Given the description of an element on the screen output the (x, y) to click on. 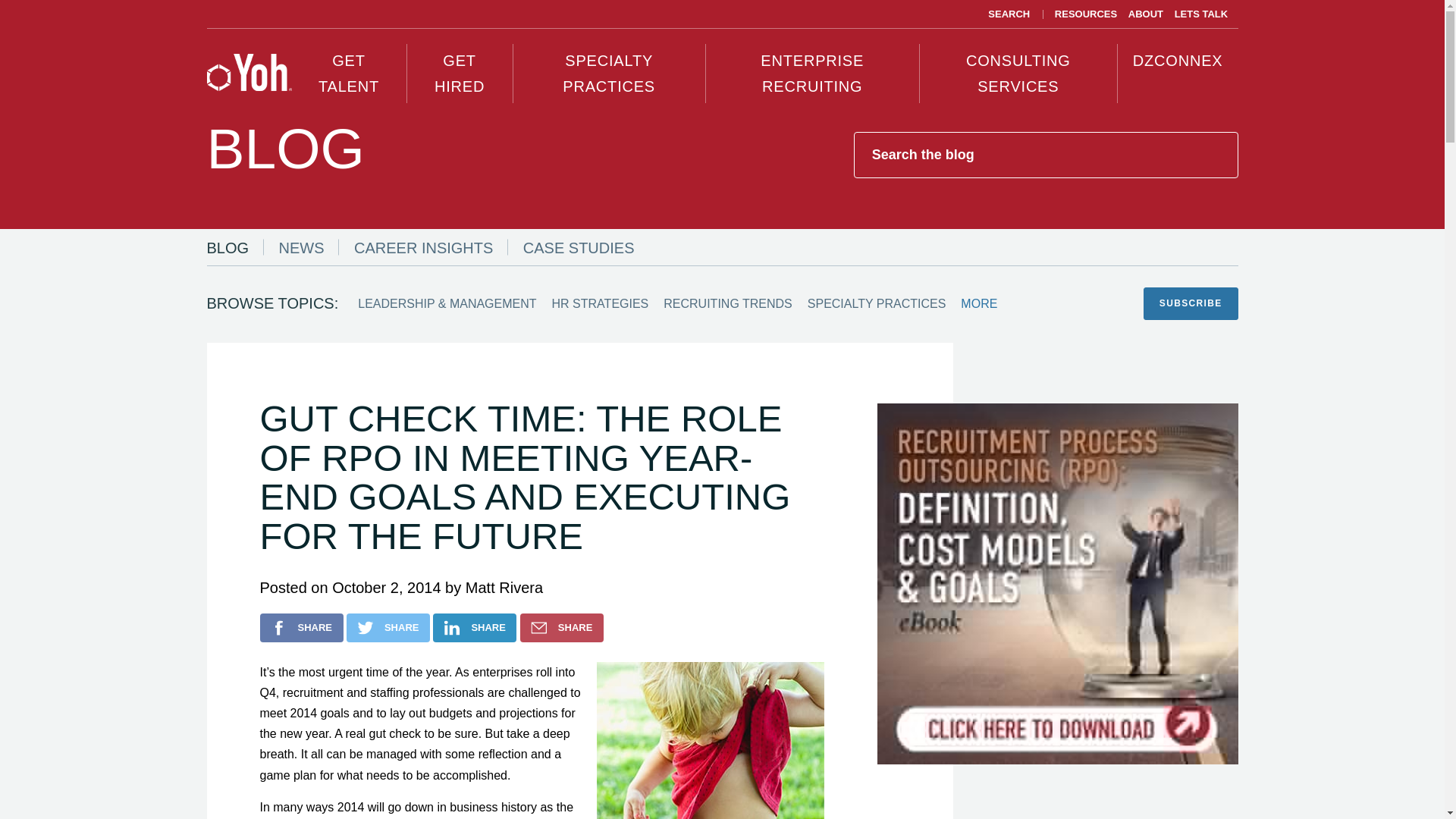
Tweet on Twitter (387, 627)
ABOUT (1145, 14)
GET HIRED (460, 73)
GET TALENT (348, 73)
Share on Facebook (300, 627)
Email (561, 627)
RESOURCES (1085, 14)
SPECIALTY PRACTICES (609, 73)
SEARCH (1002, 14)
LETS TALK (1201, 14)
